Given the description of an element on the screen output the (x, y) to click on. 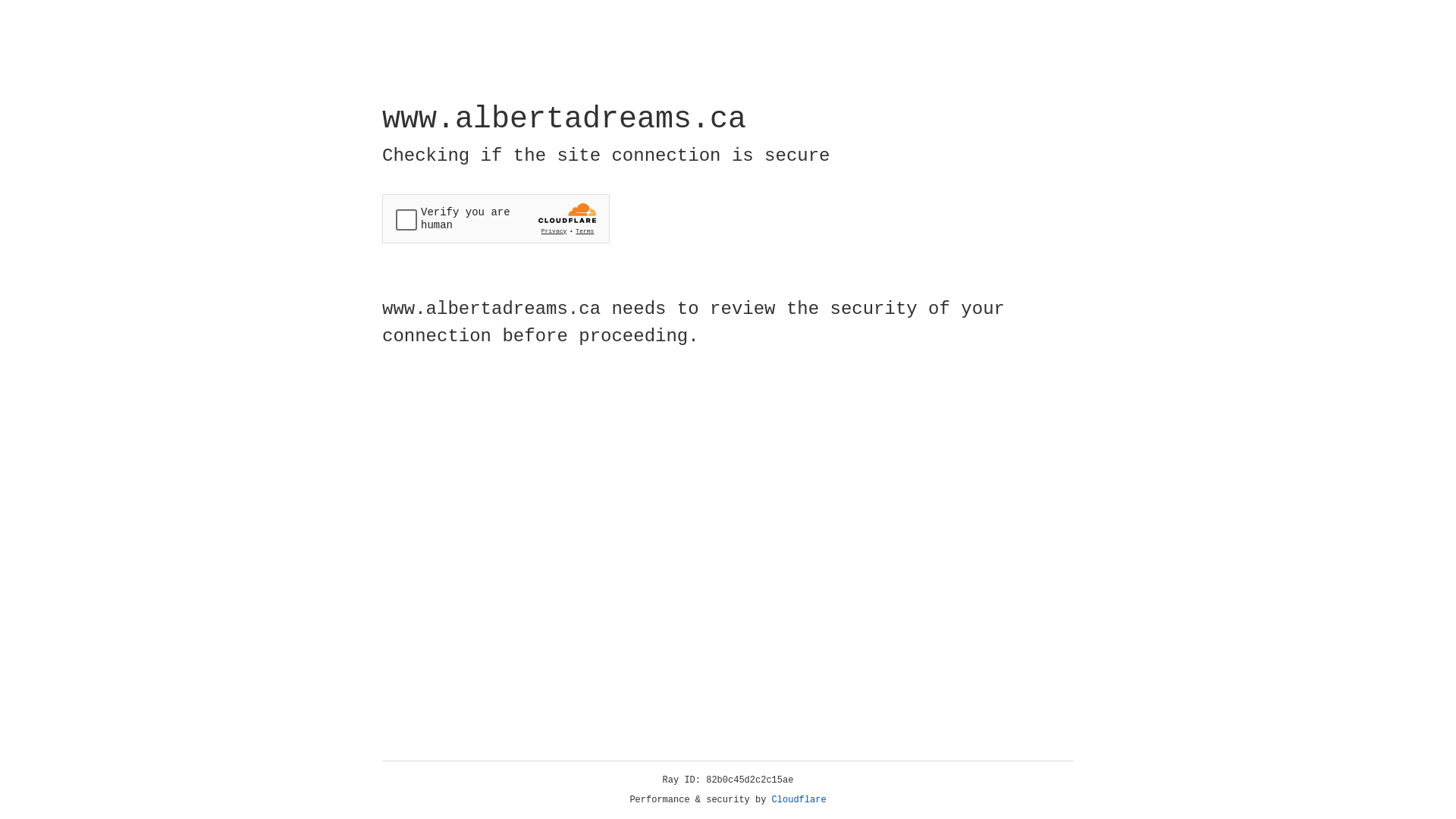
Widget containing a Cloudflare security challenge Element type: hover (495, 218)
Cloudflare Element type: text (798, 799)
